Given the description of an element on the screen output the (x, y) to click on. 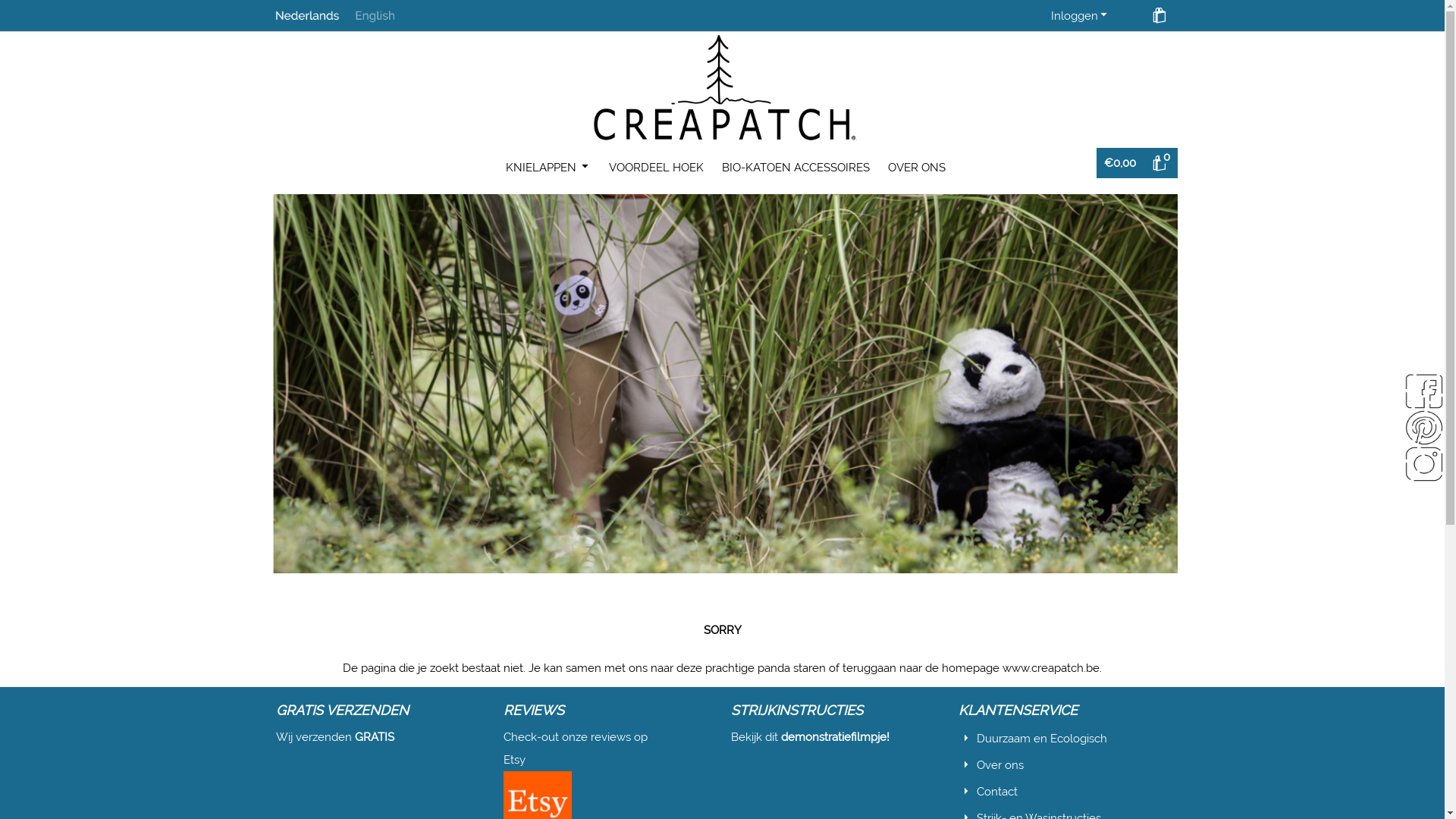
www.creapatch.be Element type: text (1050, 667)
Over ons Element type: text (999, 764)
demonstratiefilmpje! Element type: text (835, 736)
Duurzaam en Ecologisch Element type: text (1041, 738)
  Element type: text (395, 736)
Wij verzenden Element type: text (315, 736)
English Element type: hover (386, 14)
KNIELAPPEN Element type: text (547, 166)
Inloggen Element type: text (1080, 15)
GRATIS Element type: text (374, 736)
Nederlands Element type: hover (306, 14)
OVER ONS Element type: text (915, 167)
op Etsy Element type: text (575, 748)
VOORDEEL HOEK Element type: text (655, 167)
BIO-KATOEN ACCESSOIRES Element type: text (795, 167)
Contact Element type: text (996, 791)
